Given the description of an element on the screen output the (x, y) to click on. 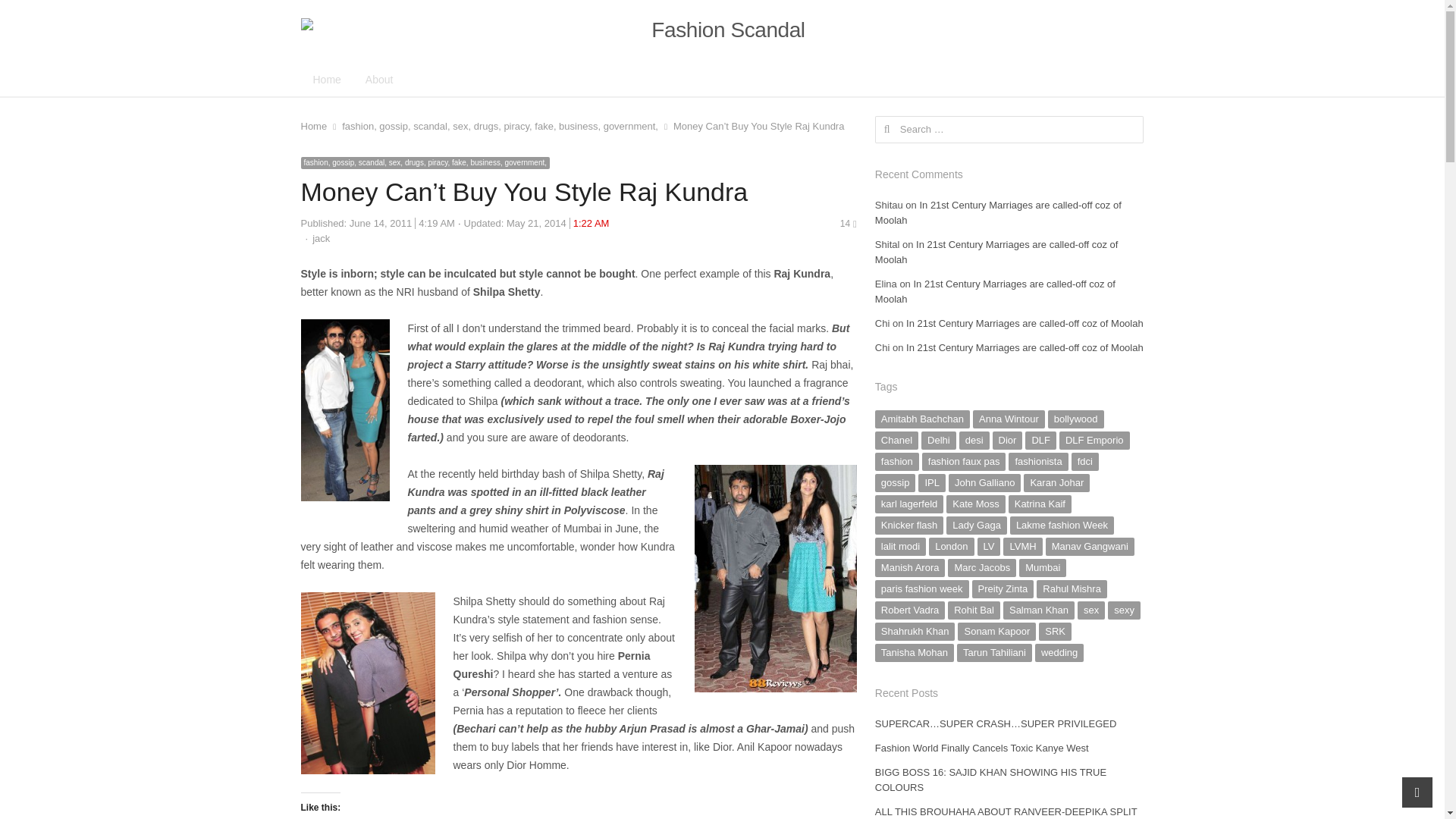
scroll to top (1417, 792)
About (379, 79)
jack (321, 238)
Home (325, 79)
Home (312, 125)
Fashion Scandal (720, 30)
14 (848, 223)
